Given the description of an element on the screen output the (x, y) to click on. 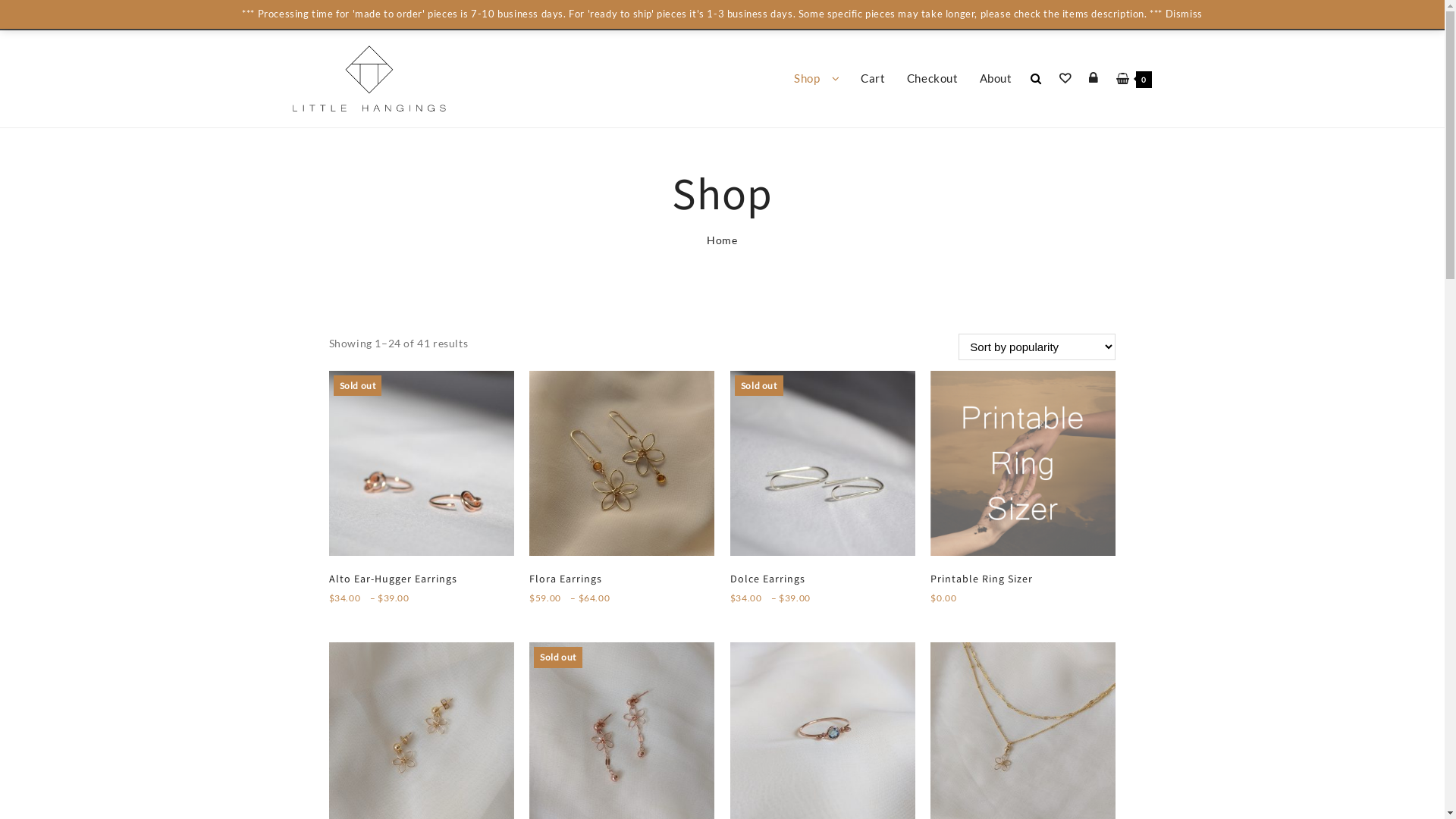
Dismiss Element type: text (1183, 13)
0 Element type: text (1133, 78)
Checkout Element type: text (932, 78)
Shop Element type: text (816, 78)
About Element type: text (995, 78)
Printable Ring Sizer
$0.00 Element type: text (1022, 490)
Cart Element type: text (872, 78)
